Given the description of an element on the screen output the (x, y) to click on. 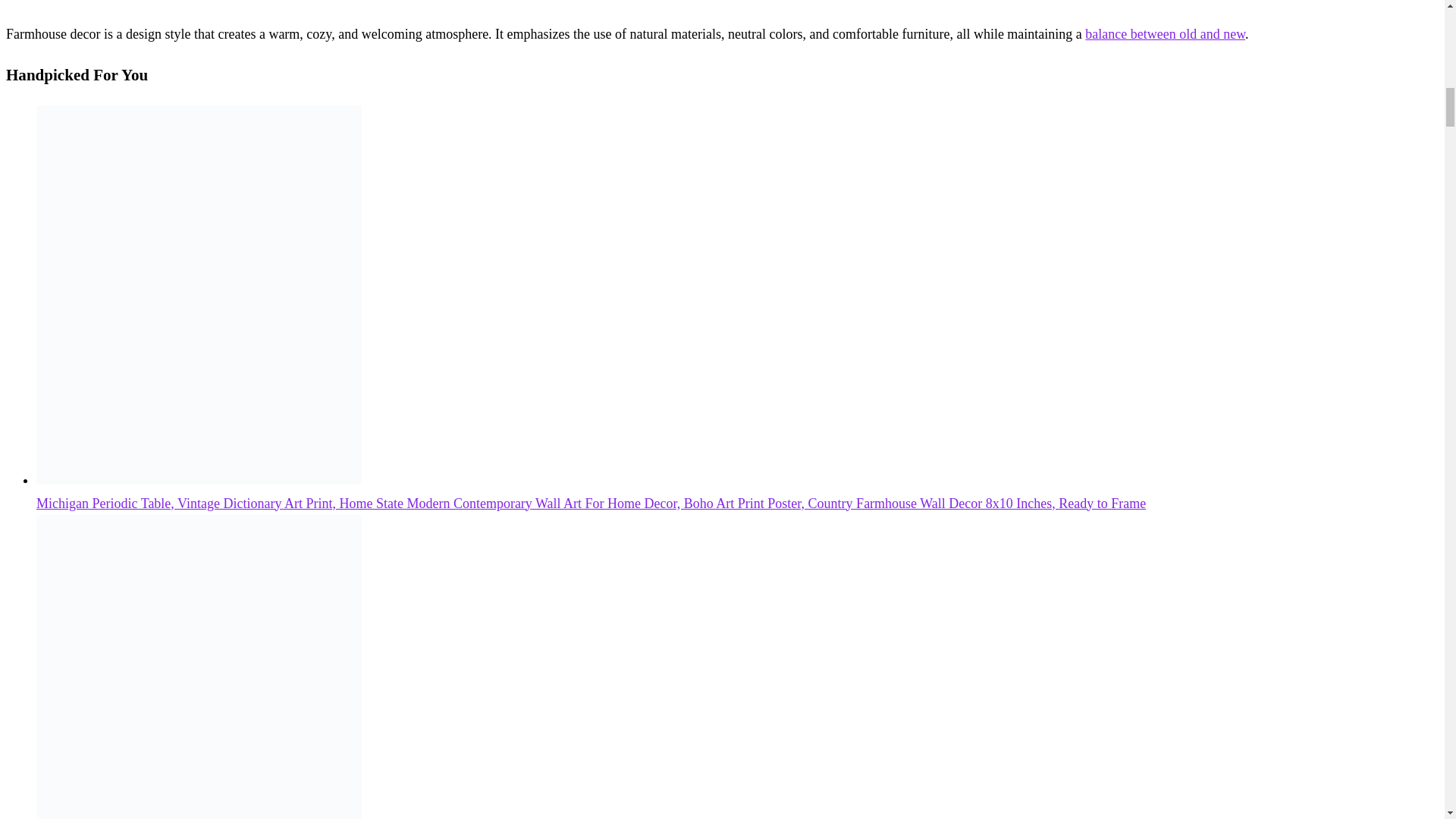
balance between old and new (1164, 33)
